Given the description of an element on the screen output the (x, y) to click on. 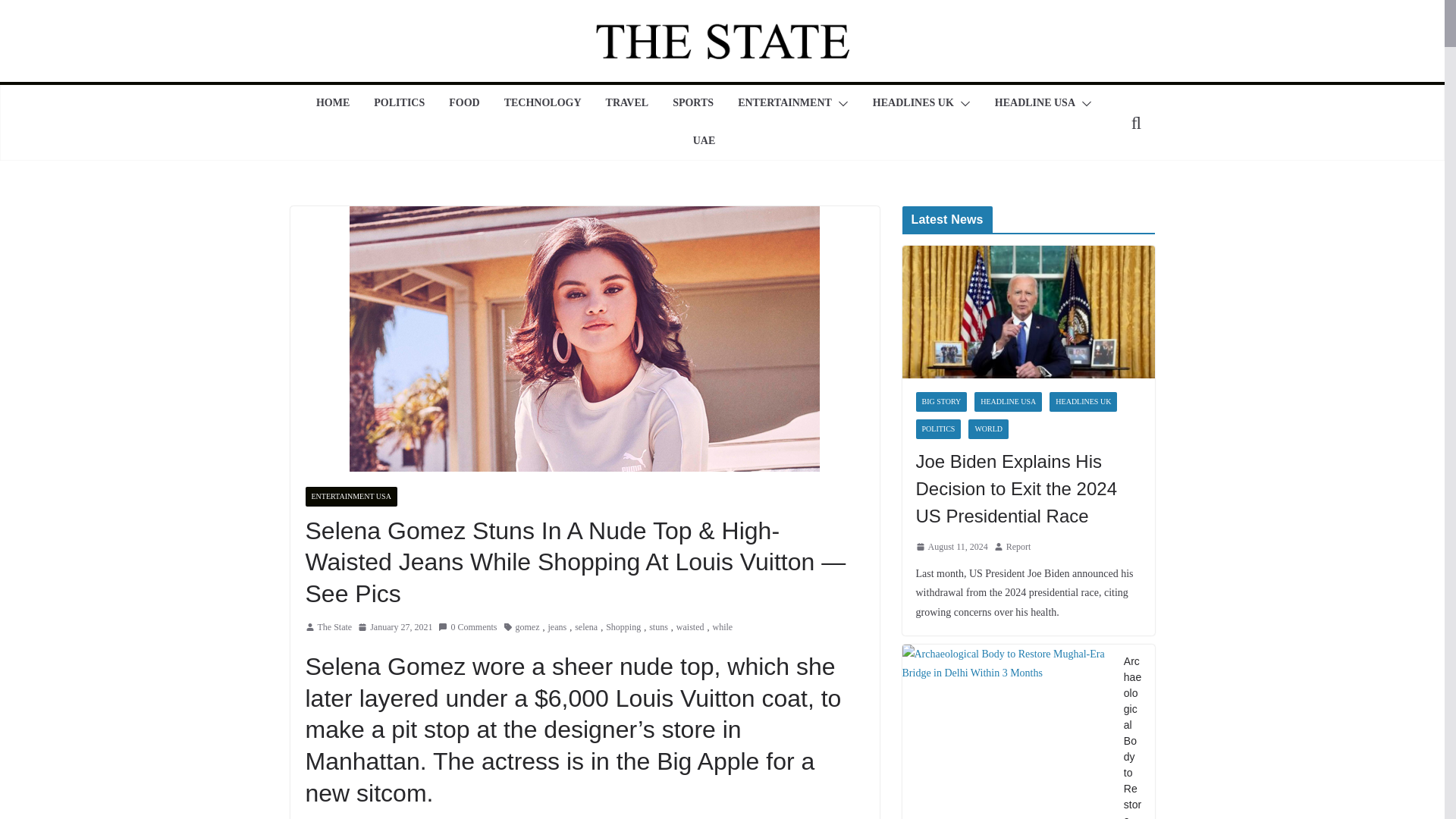
gomez (527, 627)
0 Comments (467, 627)
waisted (690, 627)
FOOD (463, 103)
ENTERTAINMENT USA (350, 496)
stuns (658, 627)
8:18 am (395, 627)
The State (334, 627)
while (723, 627)
HOME (332, 103)
